Given the description of an element on the screen output the (x, y) to click on. 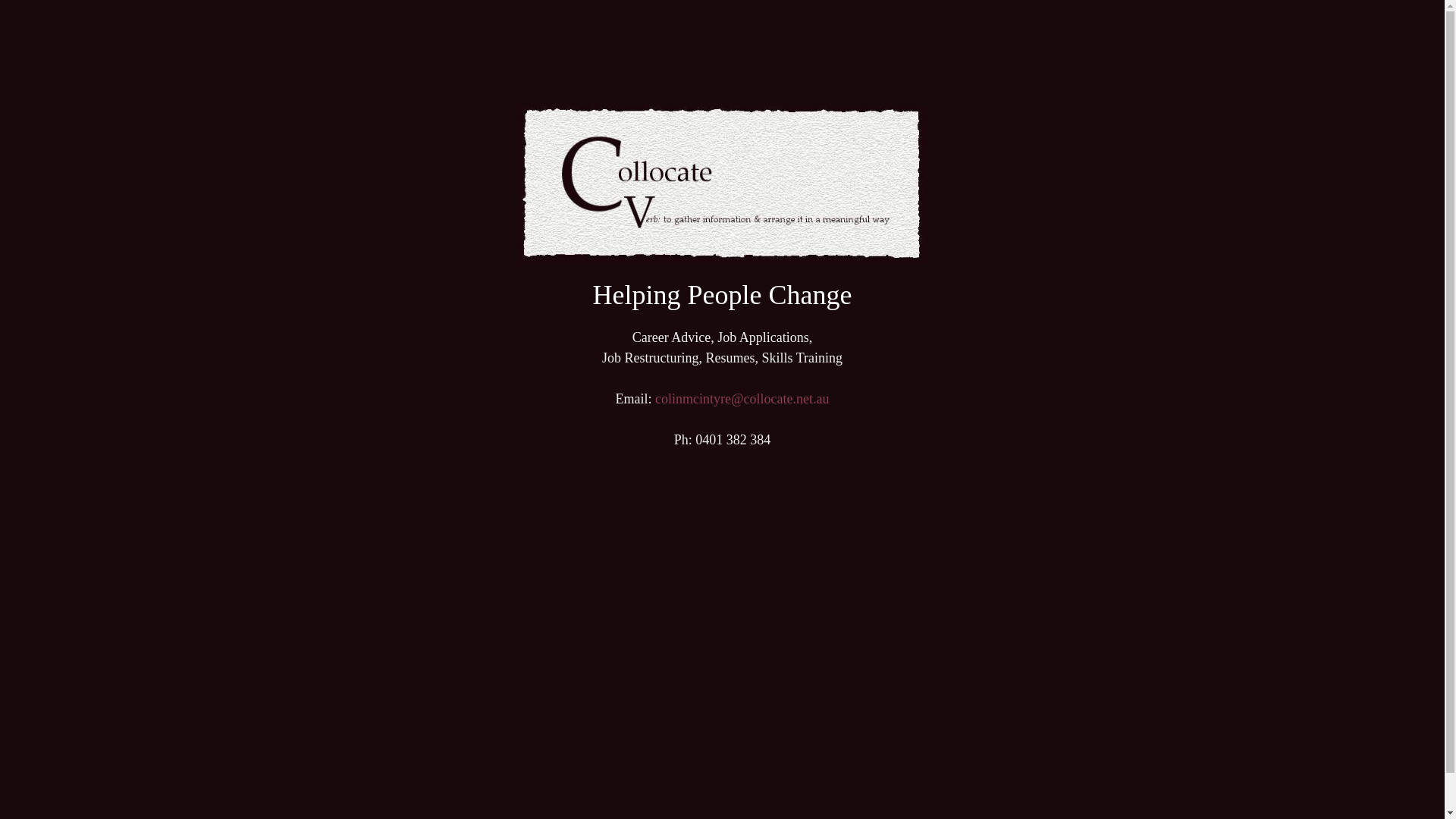
colinmcintyre@collocate.net.au Element type: text (741, 398)
